Given the description of an element on the screen output the (x, y) to click on. 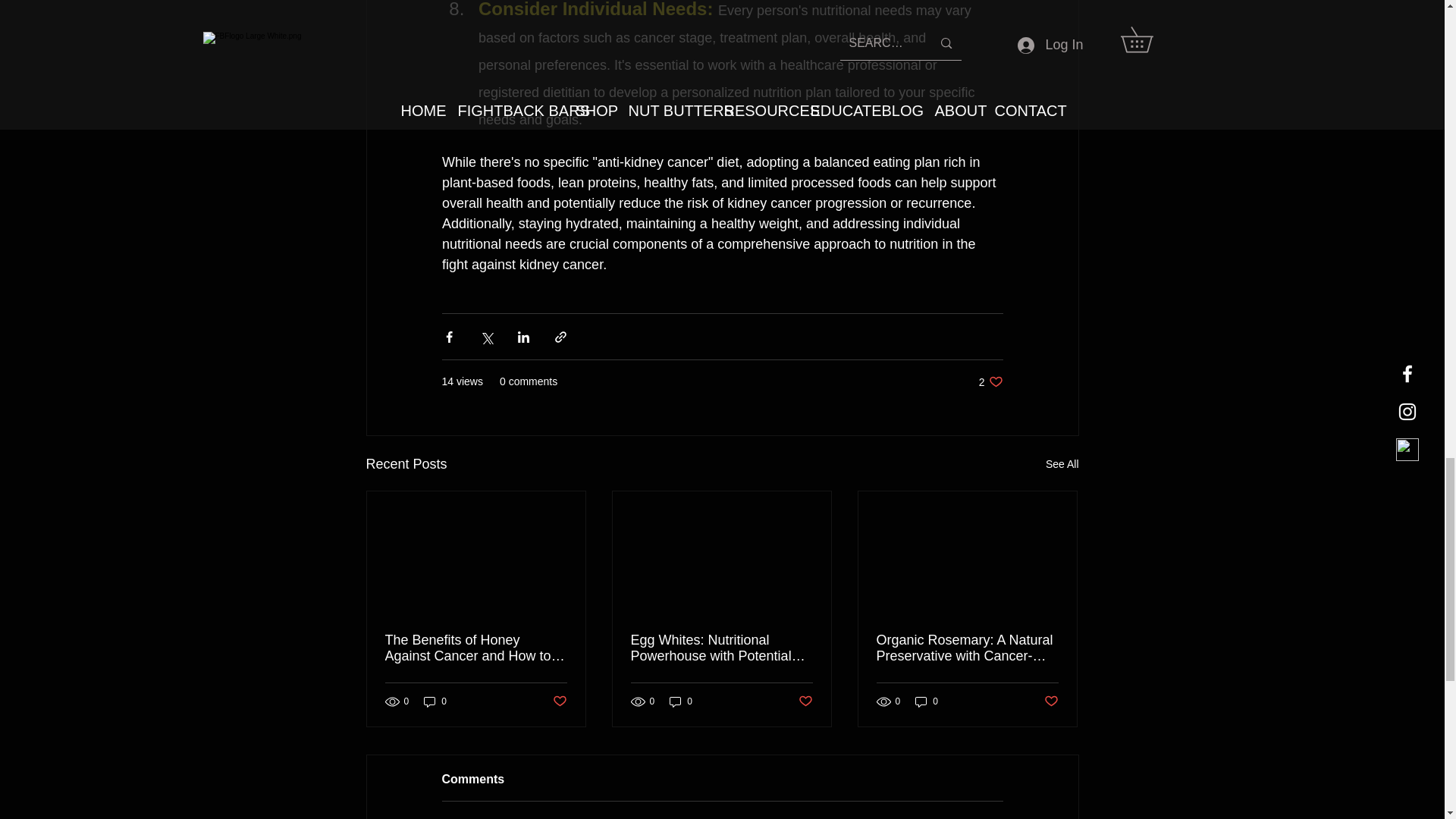
0 (926, 701)
Post not marked as liked (558, 700)
Post not marked as liked (1050, 700)
Post not marked as liked (804, 700)
See All (990, 381)
0 (1061, 464)
0 (435, 701)
